Given the description of an element on the screen output the (x, y) to click on. 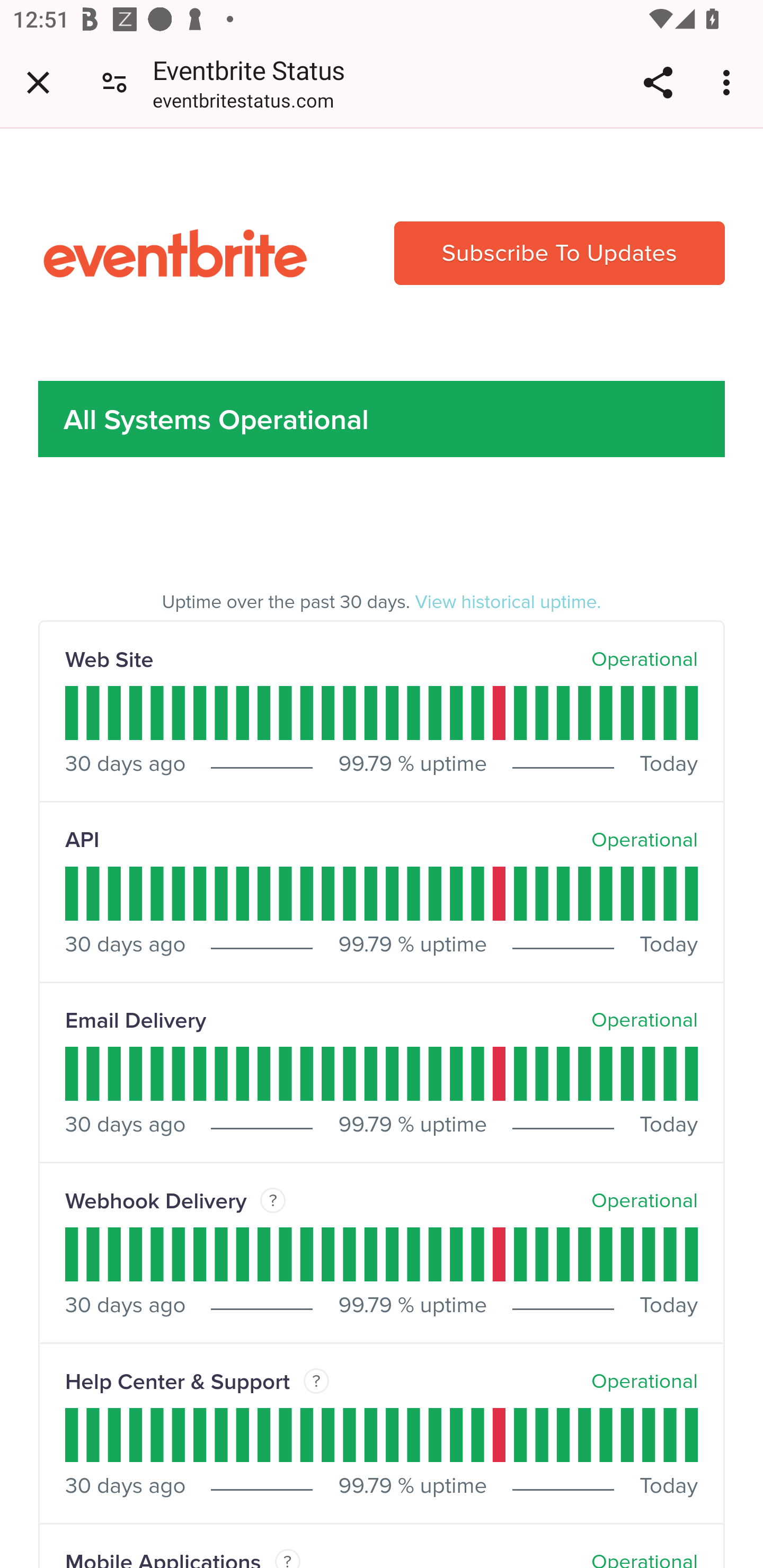
Close tab (38, 82)
Share (657, 82)
Customize and control Google Chrome (729, 82)
Connection is secure (114, 81)
eventbritestatus.com (243, 103)
Page logo (175, 253)
Subscribe to updates (558, 253)
View historical uptime. (508, 602)
